Given the description of an element on the screen output the (x, y) to click on. 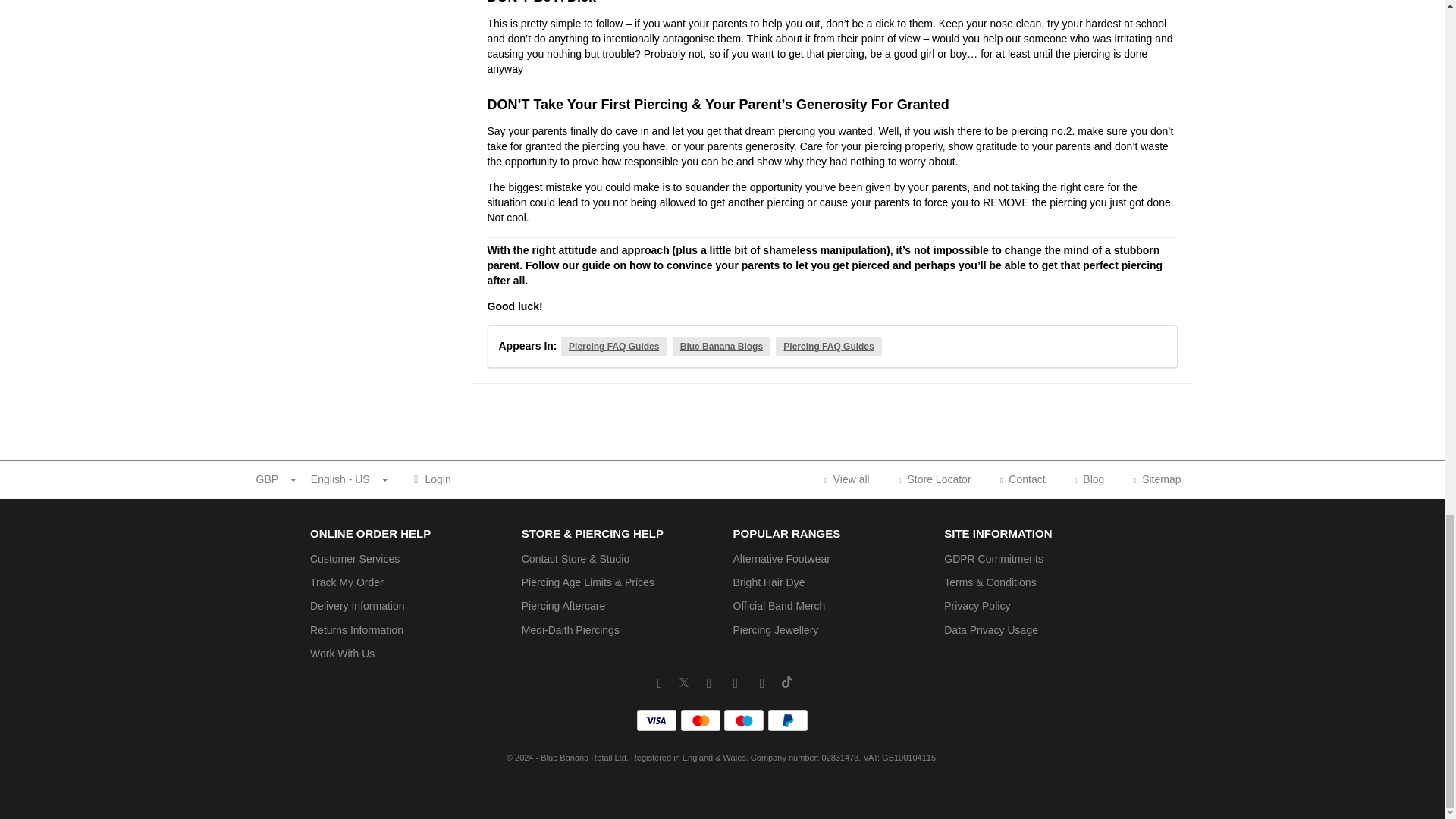
Piercing FAQ Guides (613, 346)
Blue Banana Blogs (721, 346)
